Given the description of an element on the screen output the (x, y) to click on. 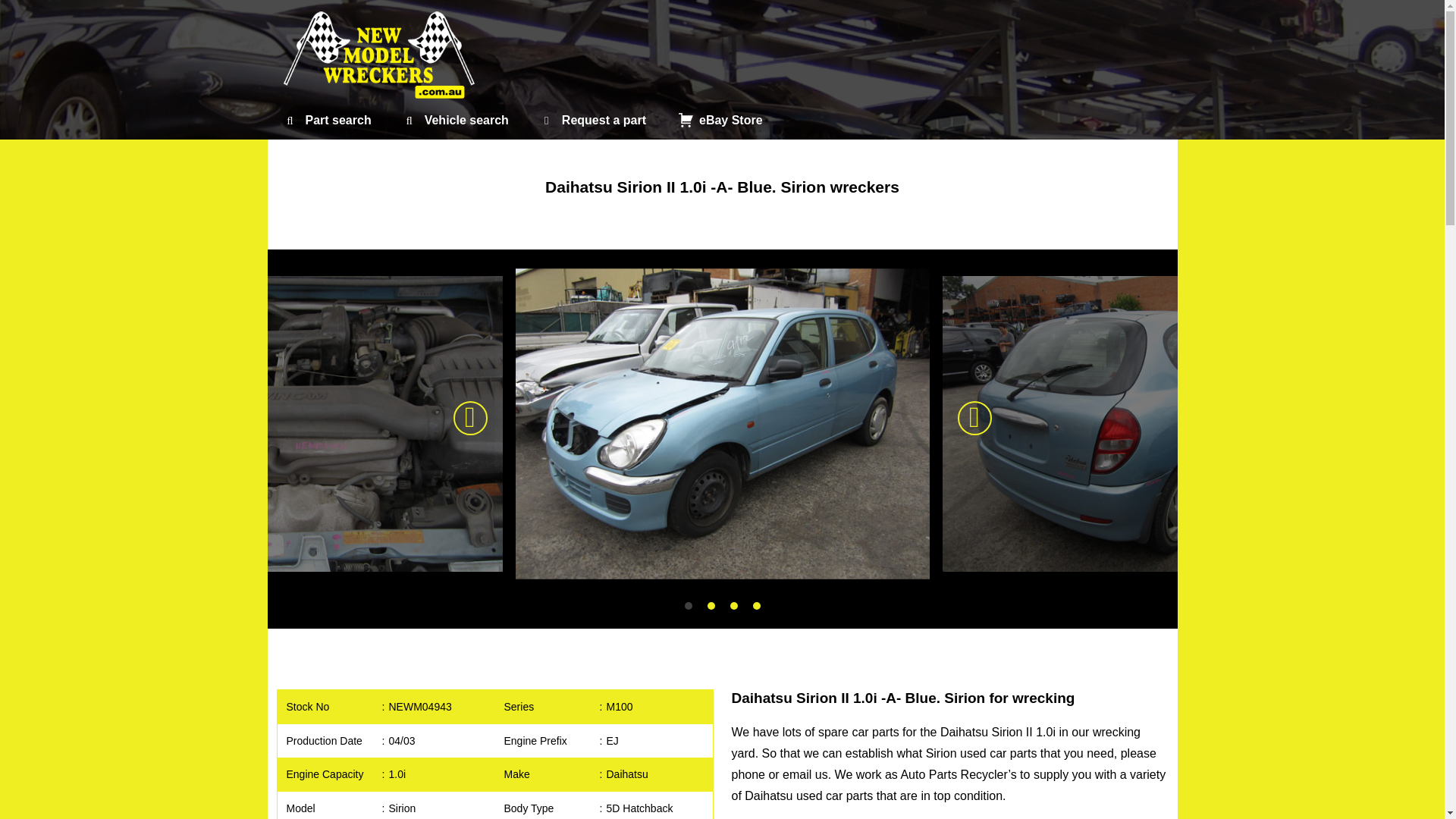
eBay Store (719, 120)
Part search (325, 120)
Request a part (592, 120)
New Model Wreckers (380, 55)
1 (688, 605)
4 (756, 605)
Vehicle search (455, 120)
3 (733, 605)
2 (711, 605)
